Given the description of an element on the screen output the (x, y) to click on. 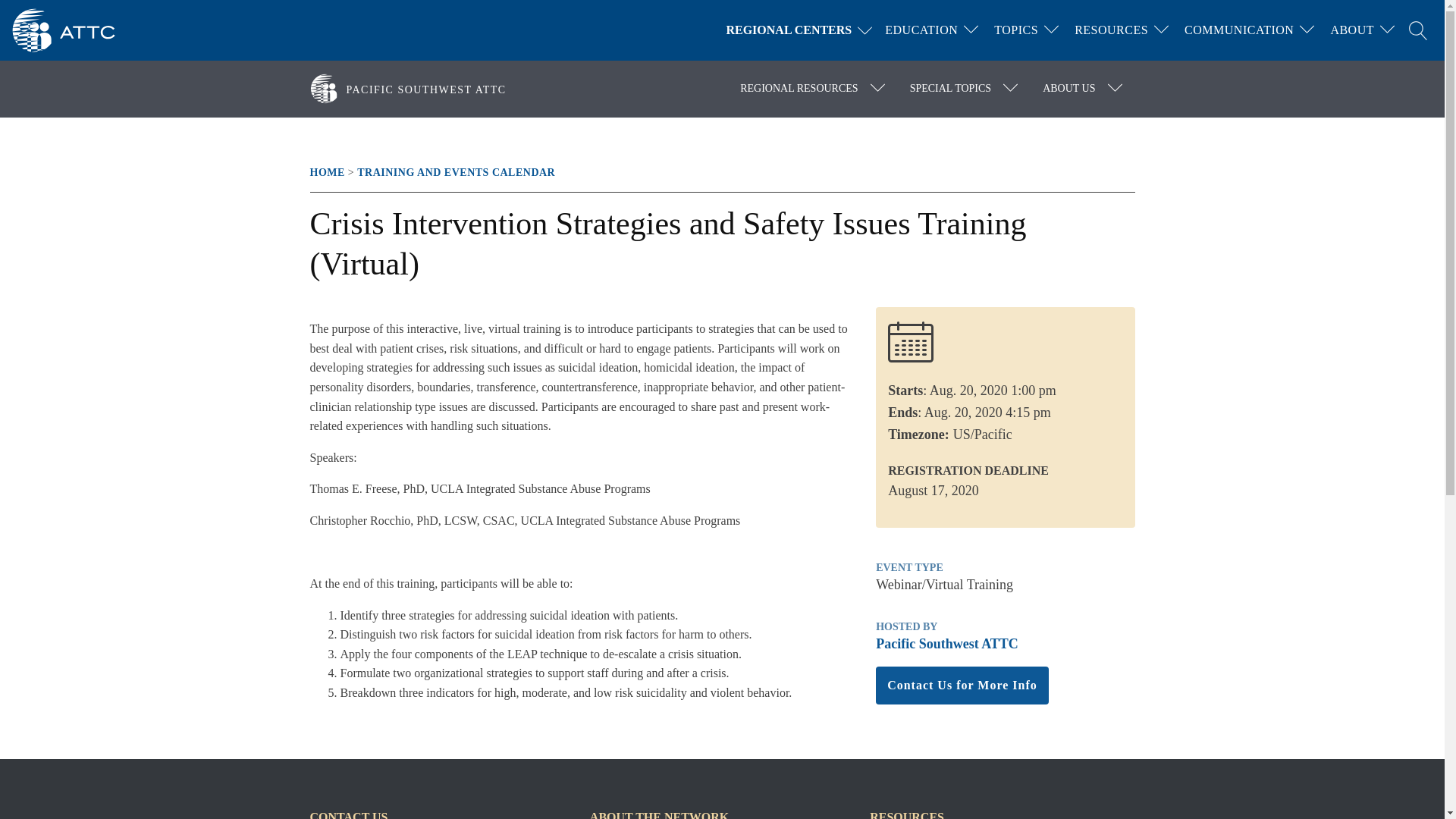
TOPICS (1015, 30)
RESOURCES (1111, 30)
EDUCATION (921, 30)
REGIONAL CENTERS (802, 30)
